Given the description of an element on the screen output the (x, y) to click on. 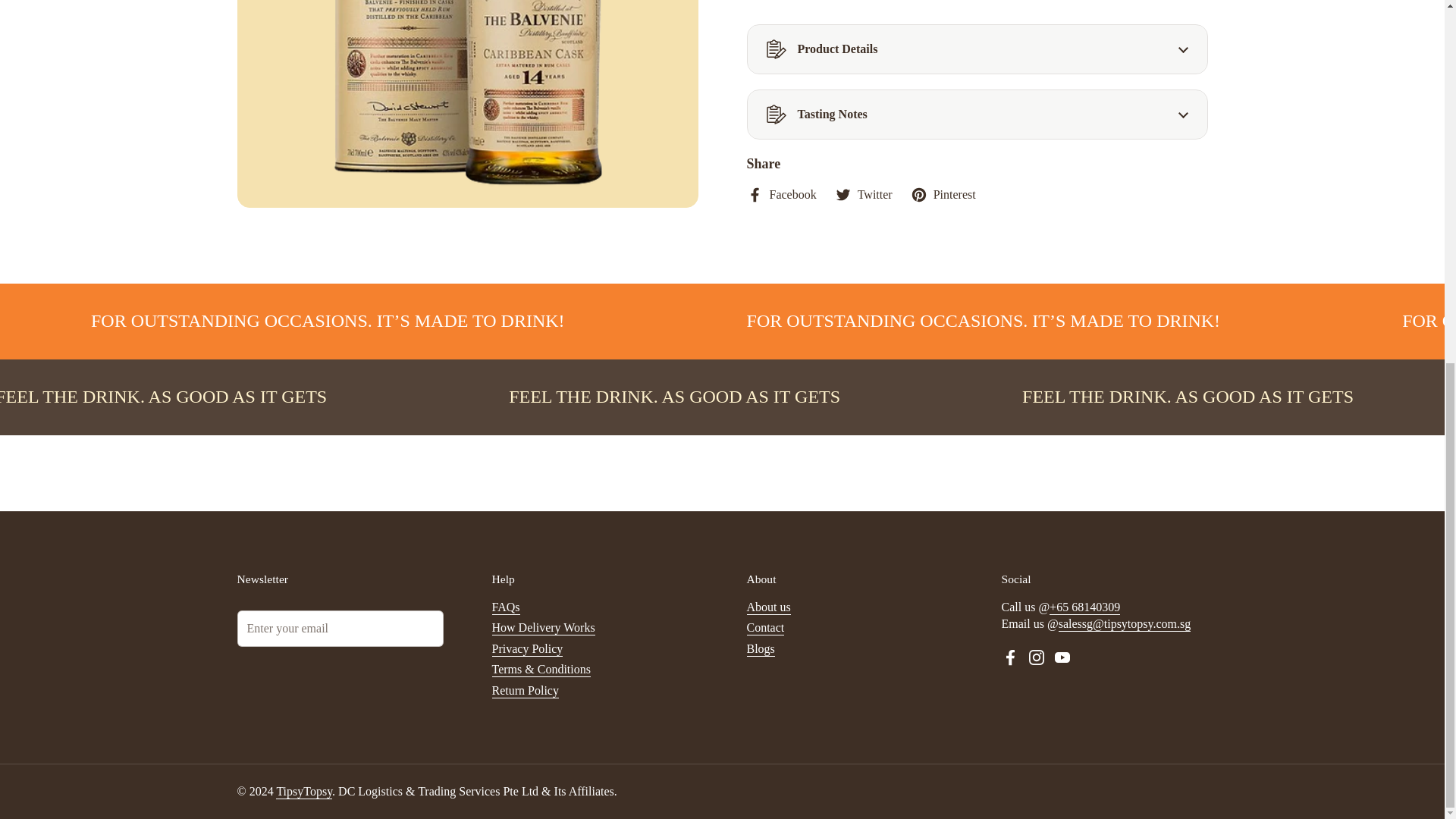
FEEL THE DRINK. AS GOOD AS IT GETS (674, 397)
Share on facebook (780, 194)
Share on twitter (863, 194)
FEEL THE DRINK. AS GOOD AS IT GETS (208, 397)
Share on pinterest (943, 194)
